Given the description of an element on the screen output the (x, y) to click on. 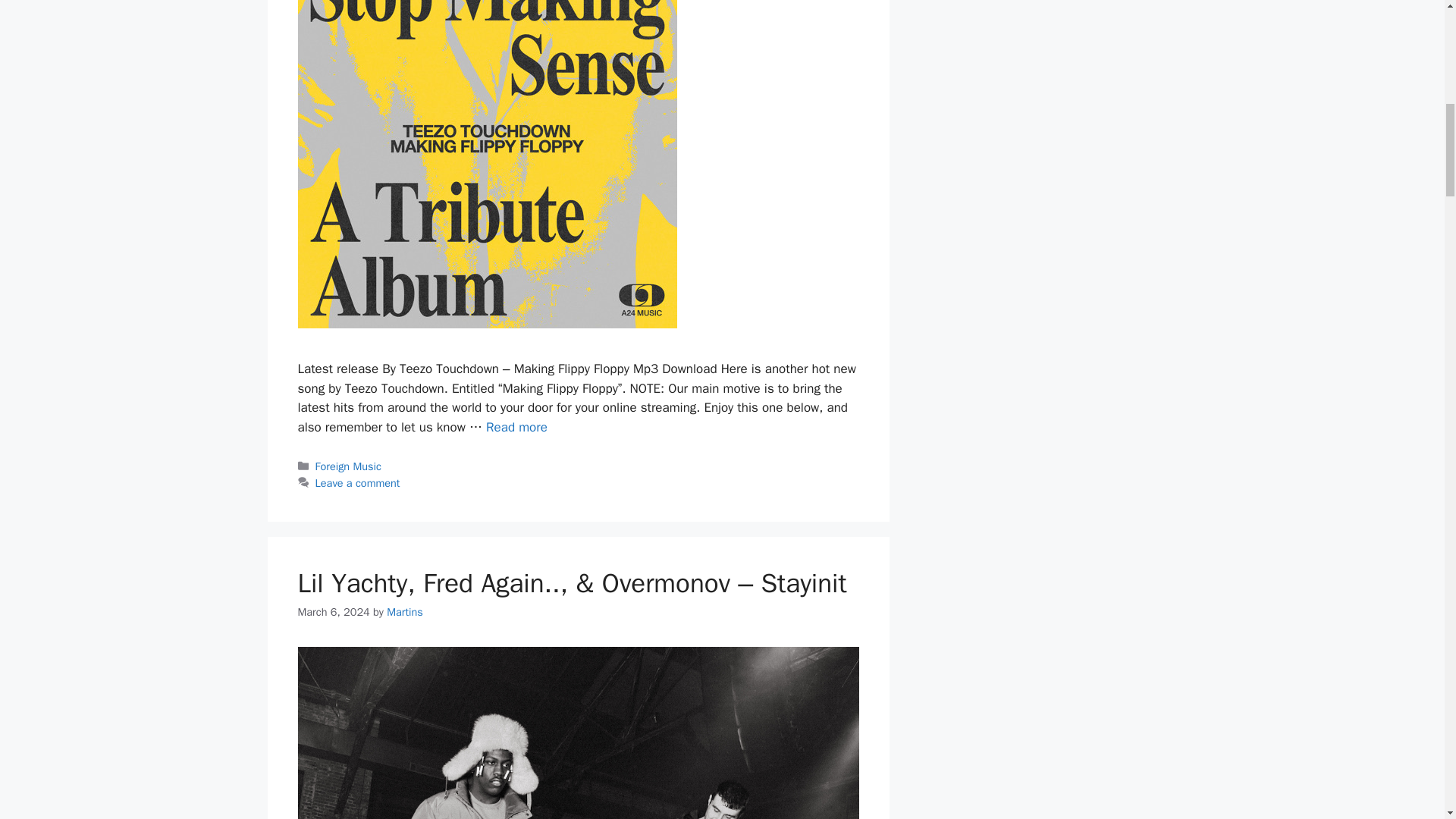
Martins (405, 612)
Read more (516, 426)
Foreign Music (348, 466)
View all posts by Martins (405, 612)
Leave a comment (357, 482)
